Given the description of an element on the screen output the (x, y) to click on. 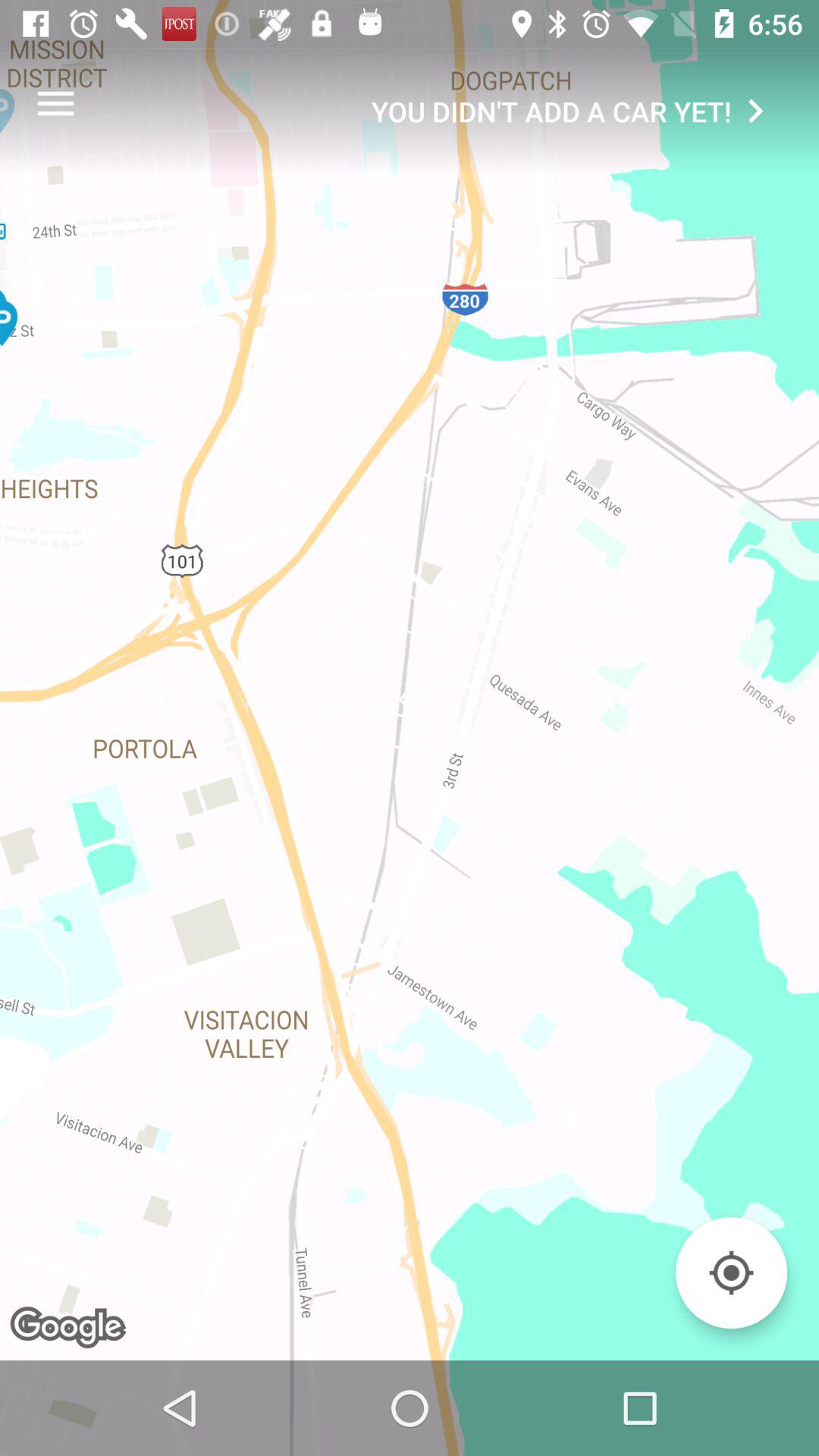
open item at the top right corner (575, 111)
